Given the description of an element on the screen output the (x, y) to click on. 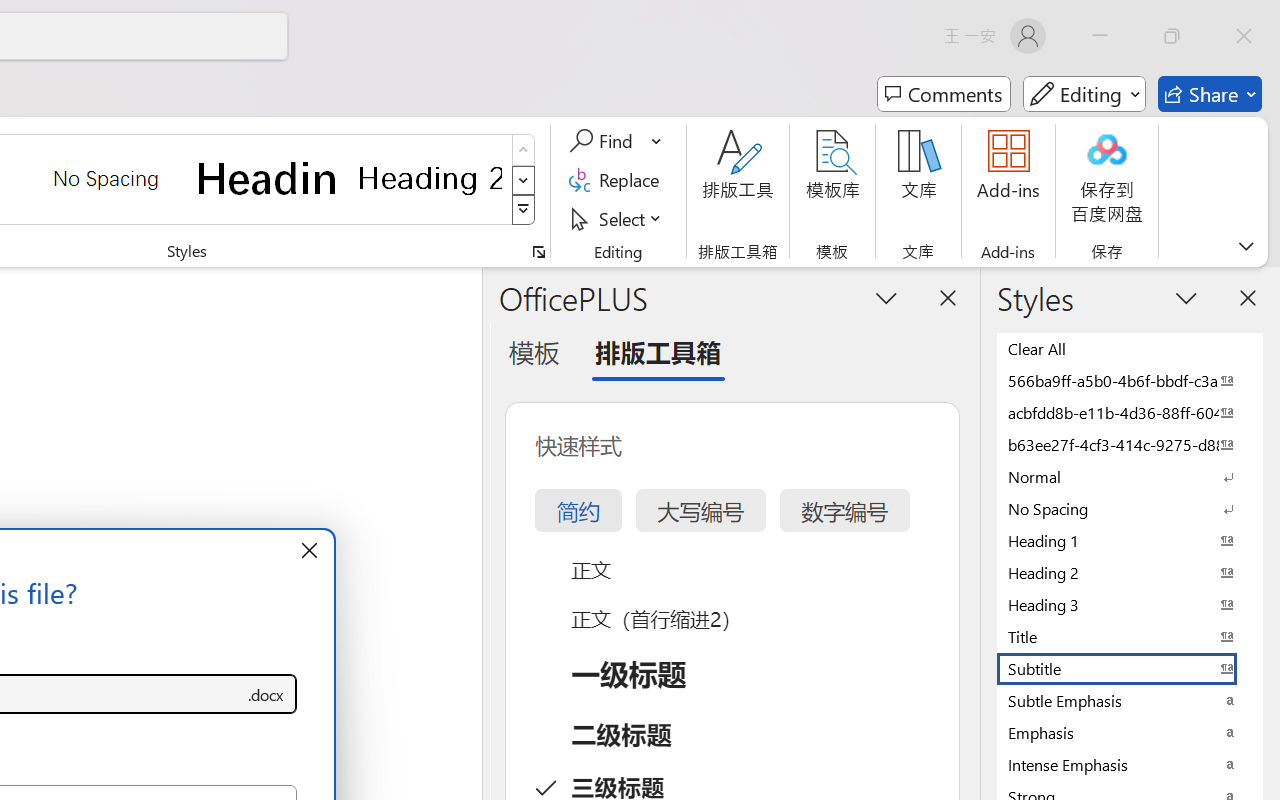
Comments (943, 94)
Mode (1083, 94)
Save as type (265, 694)
Heading 1 (267, 178)
Emphasis (1130, 732)
Clear All (1130, 348)
Find (604, 141)
Share (1210, 94)
